Given the description of an element on the screen output the (x, y) to click on. 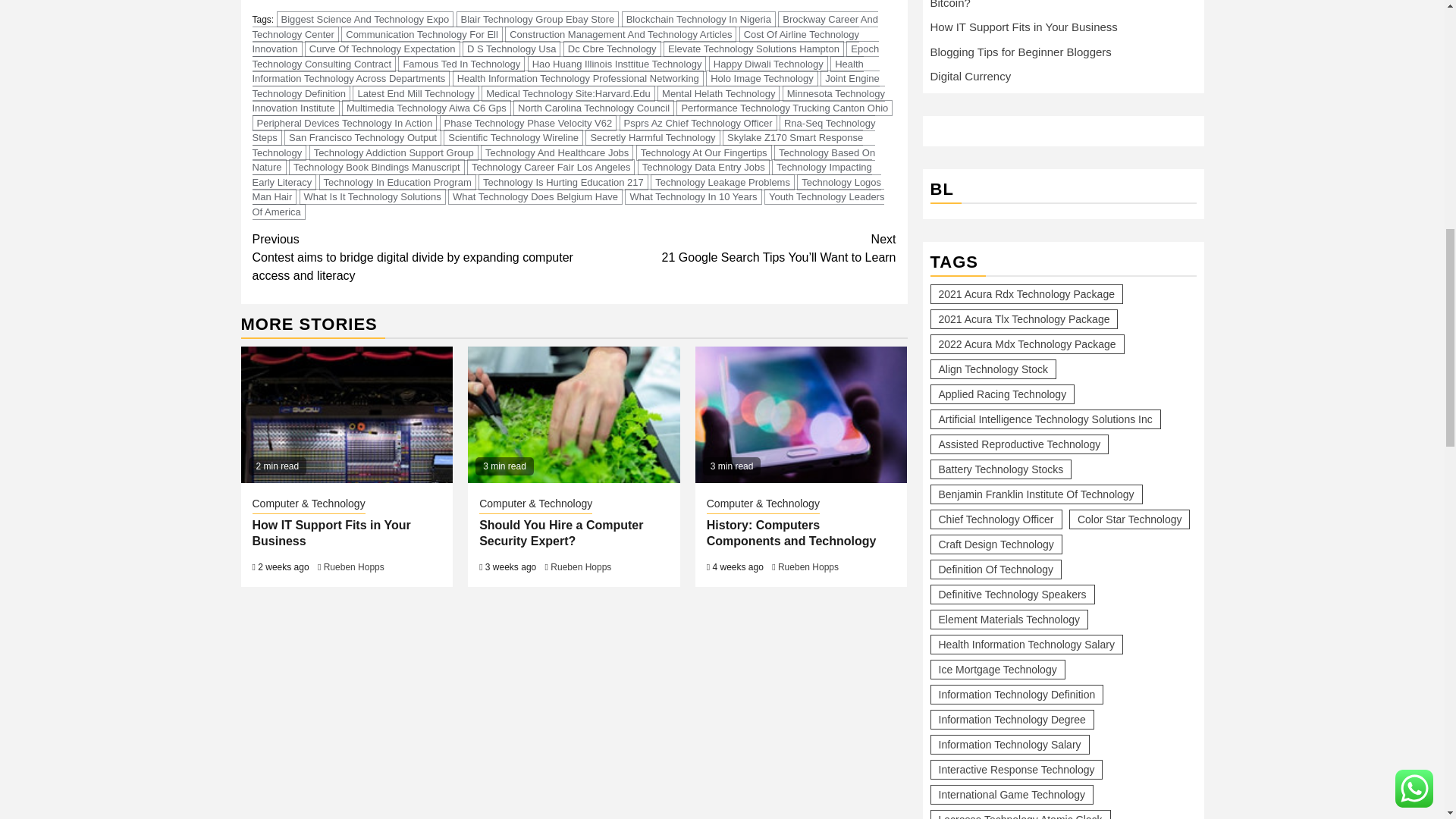
Epoch Technology Consulting Contract (565, 56)
Famous Ted In Technology (460, 64)
Brockway Career And Technology Center (564, 26)
History: Computers Components and Technology (801, 414)
Happy Diwali Technology (768, 64)
How IT Support Fits in Your Business (346, 414)
Construction Management And Technology Articles (620, 34)
Hao Huang Illinois Insttitue Technology (616, 64)
Communication Technology For Ell (421, 34)
Blockchain Technology In Nigeria (698, 19)
Biggest Science And Technology Expo (365, 19)
Should You Hire a Computer Security Expert? (573, 414)
Dc Cbre Technology (612, 48)
D S Technology Usa (511, 48)
Blair Technology Group Ebay Store (538, 19)
